Given the description of an element on the screen output the (x, y) to click on. 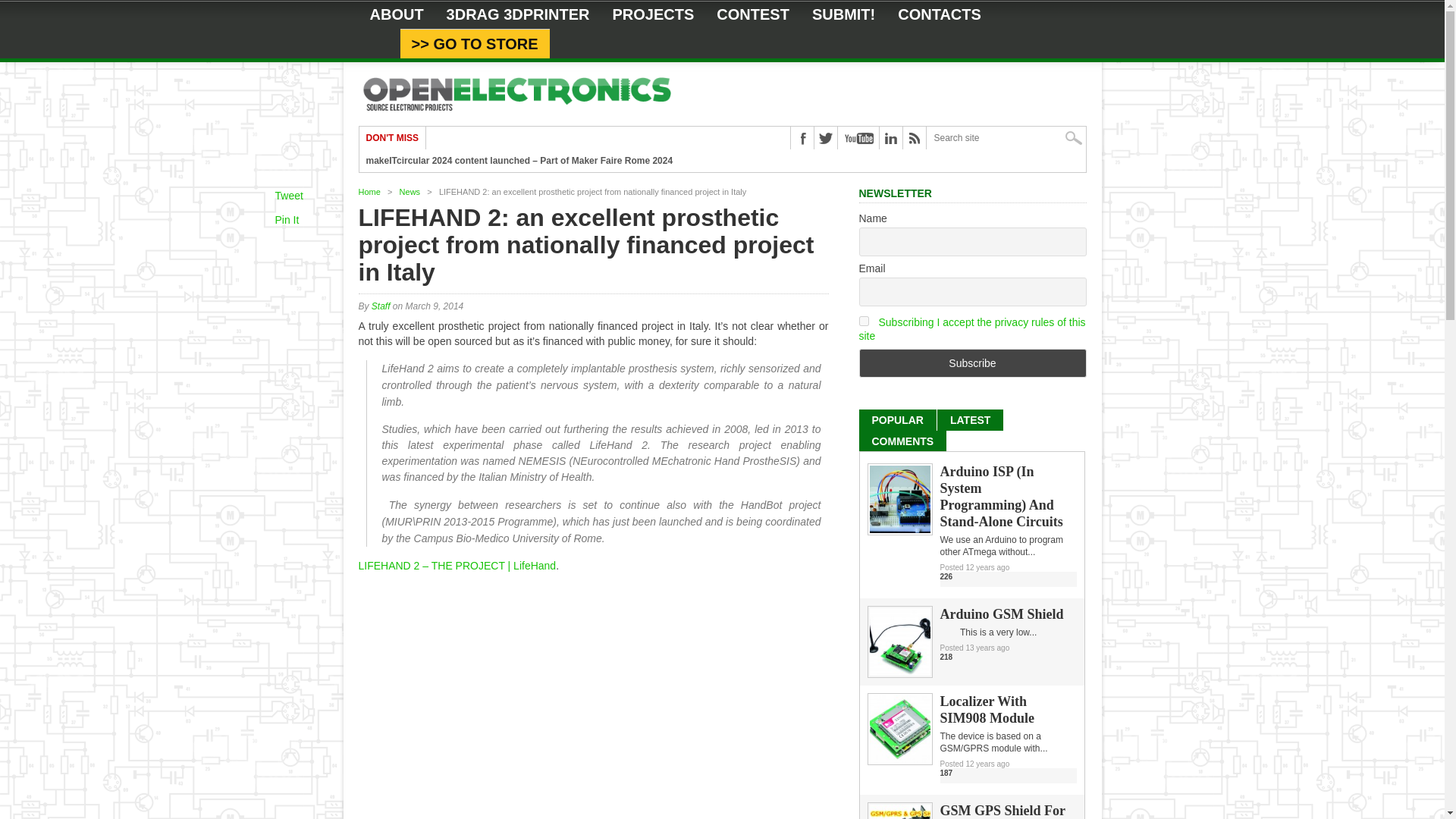
SUBMIT! (843, 13)
Posts by Staff (380, 306)
CONTEST (752, 13)
Subscribe (972, 362)
Staff (380, 306)
3DRAG 3DPRINTER (517, 13)
Tweet (288, 195)
on (863, 320)
Search site (1006, 137)
News (409, 191)
